Given the description of an element on the screen output the (x, y) to click on. 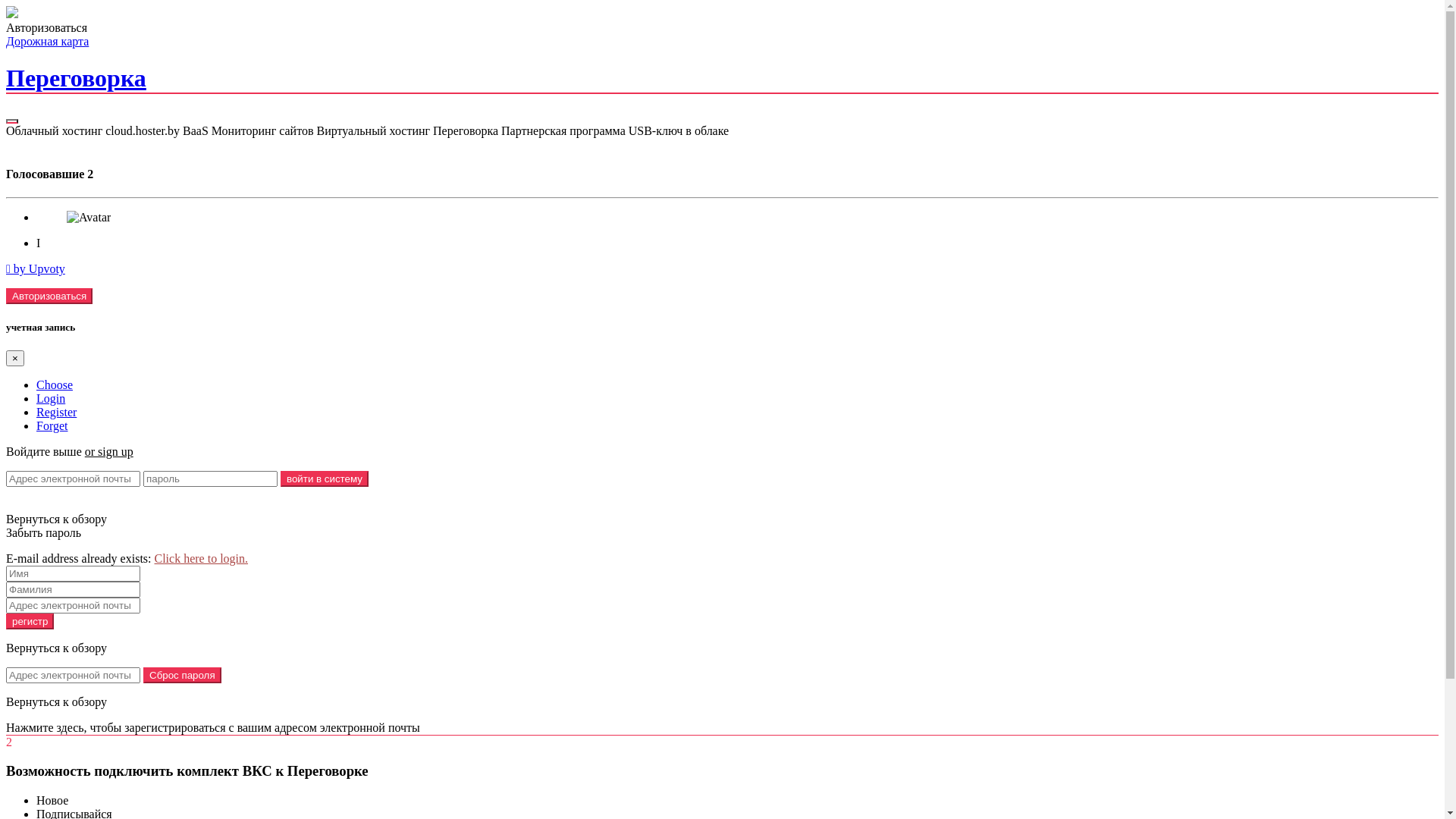
Register Element type: text (56, 411)
Forget Element type: text (51, 425)
Choose Element type: text (54, 384)
Login Element type: text (50, 398)
or sign up Element type: text (108, 451)
BaaS Element type: text (195, 130)
Click here to login. Element type: text (201, 558)
